Given the description of an element on the screen output the (x, y) to click on. 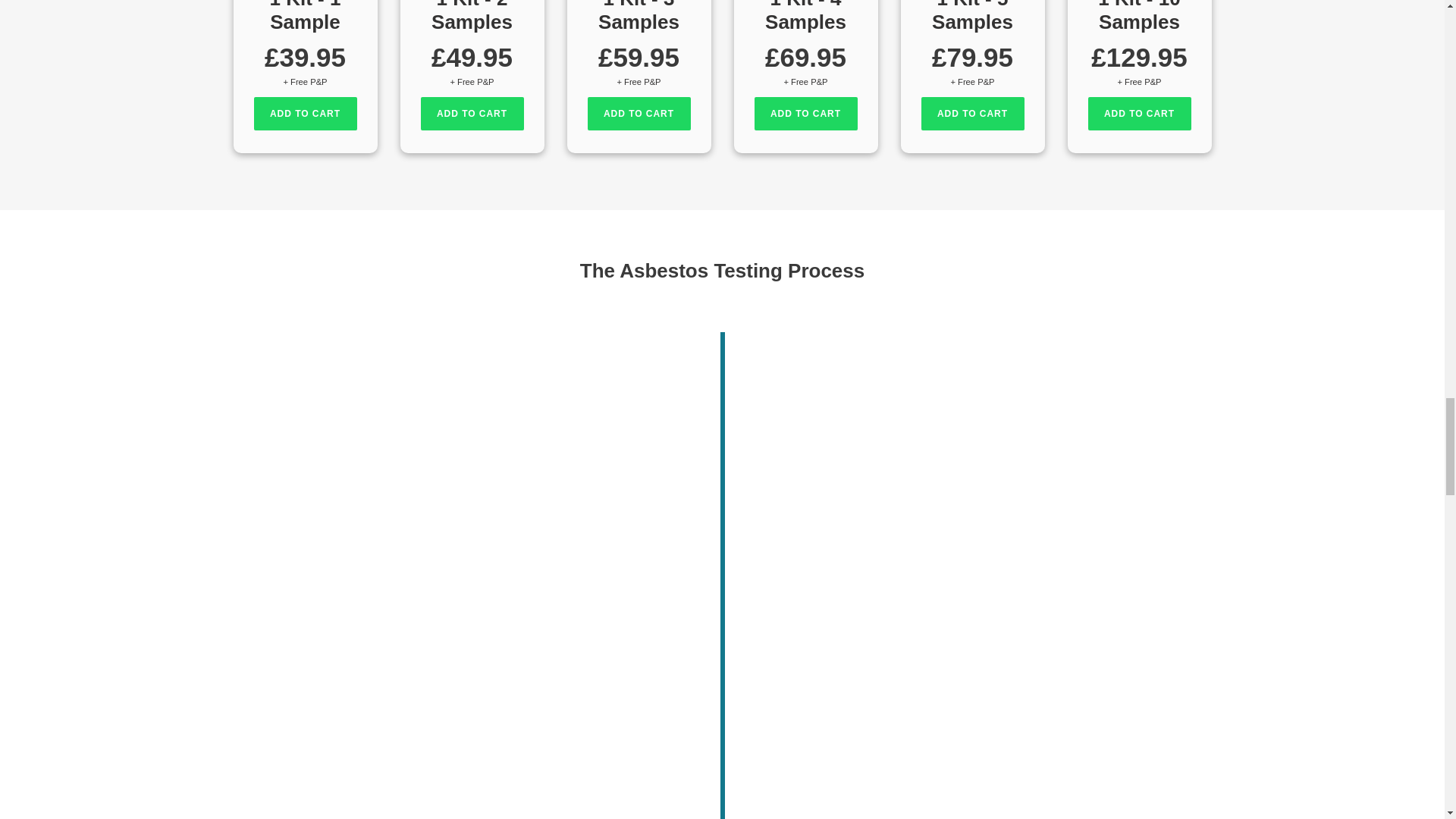
ADD TO CART (304, 113)
ADD TO CART (971, 113)
ADD TO CART (805, 113)
ADD TO CART (638, 113)
ADD TO CART (1139, 113)
ADD TO CART (471, 113)
